Given the description of an element on the screen output the (x, y) to click on. 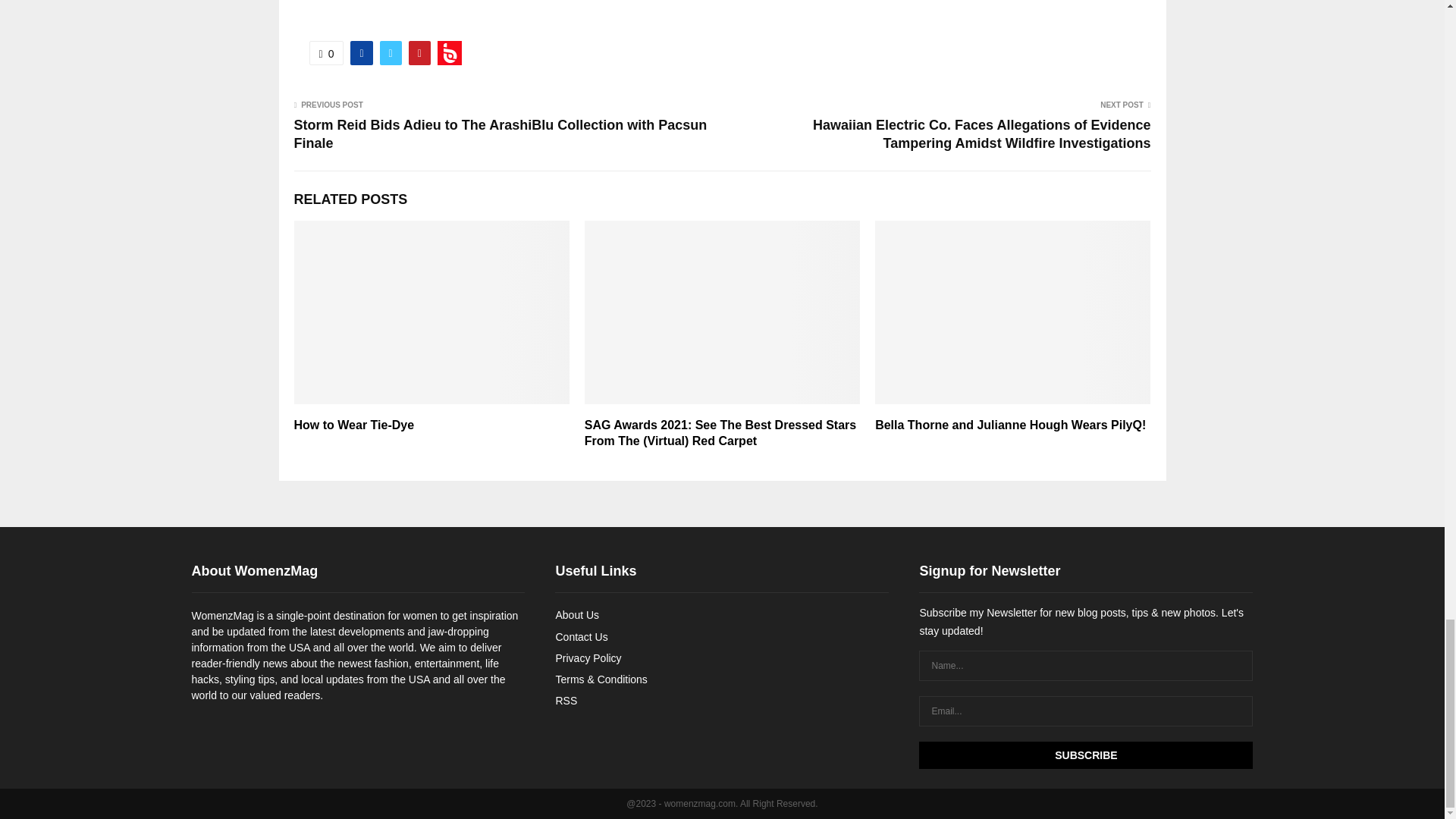
0 (325, 52)
How to Wear Tie-Dye (354, 424)
Subscribe (1085, 755)
Like (325, 52)
